Given the description of an element on the screen output the (x, y) to click on. 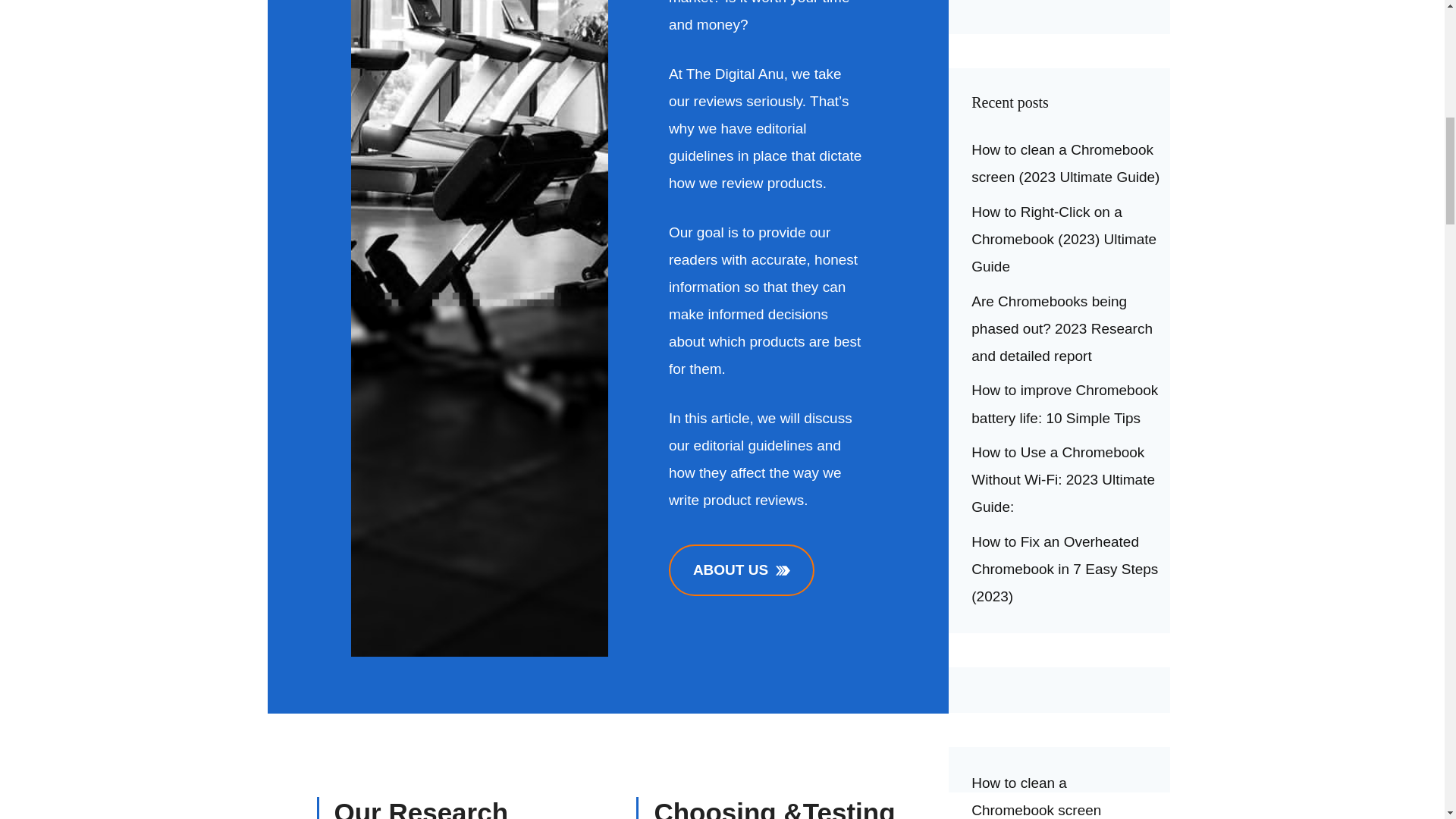
The Digital Anu (734, 73)
ABOUT US (740, 570)
Scroll back to top (1406, 720)
